Given the description of an element on the screen output the (x, y) to click on. 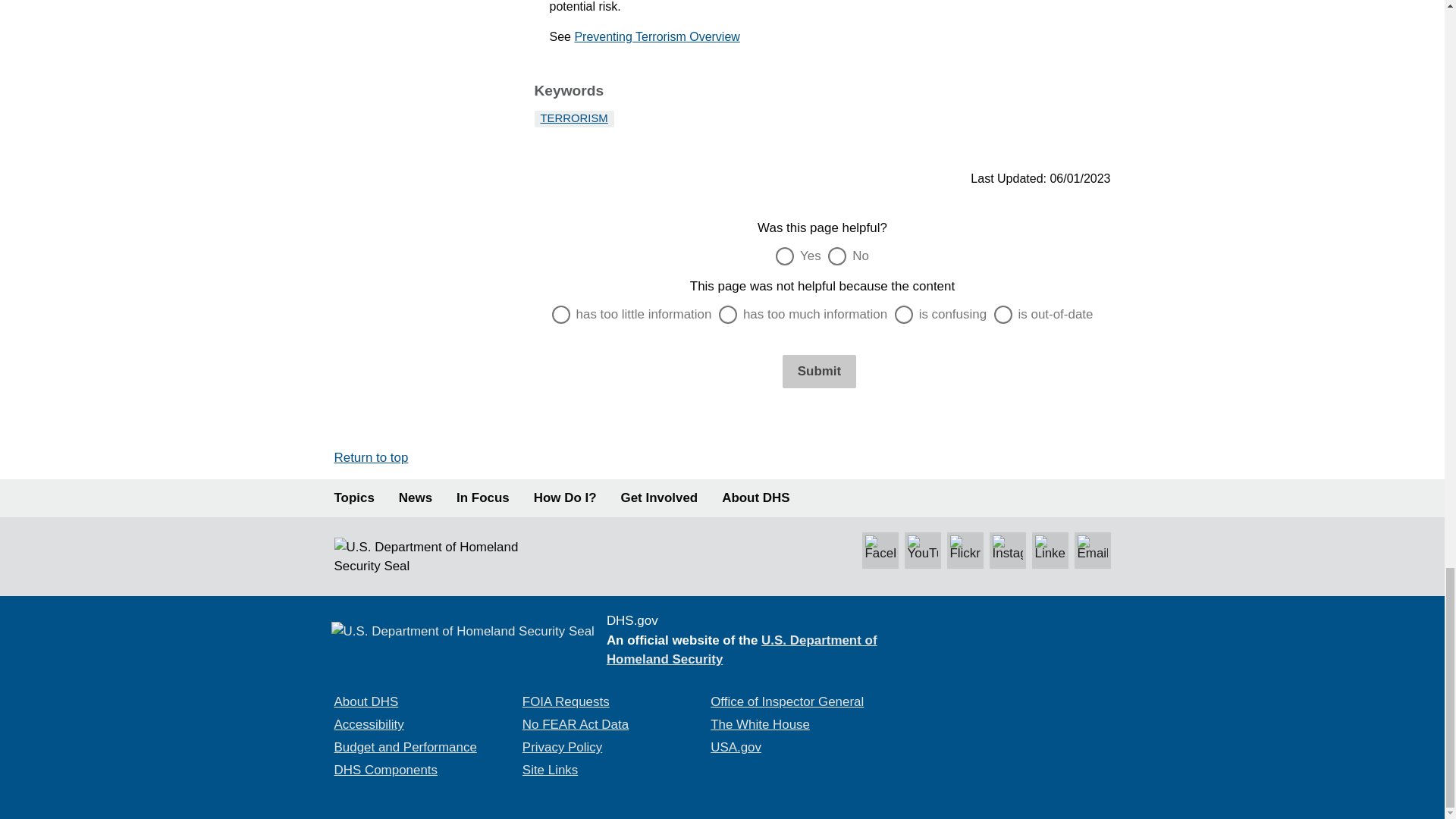
Topics (353, 498)
Submit (819, 371)
Office of the Inspector General (786, 701)
Submit (819, 371)
National Terrorism Advisory System (1018, 678)
The White House (759, 724)
Get Involved (659, 498)
DHS Components (385, 769)
USA.gov (735, 747)
